Given the description of an element on the screen output the (x, y) to click on. 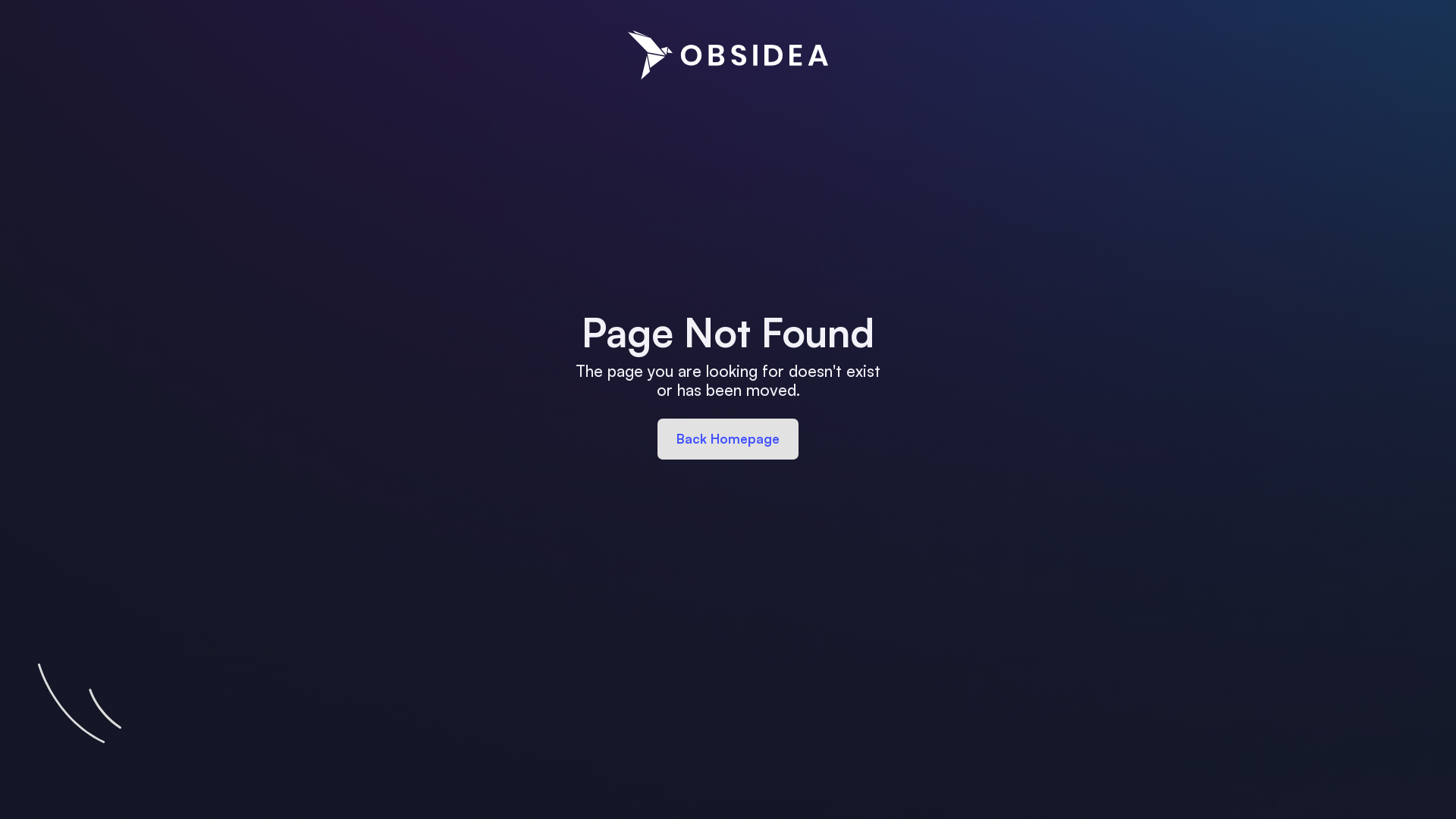
Back Homepage Element type: text (727, 438)
